Given the description of an element on the screen output the (x, y) to click on. 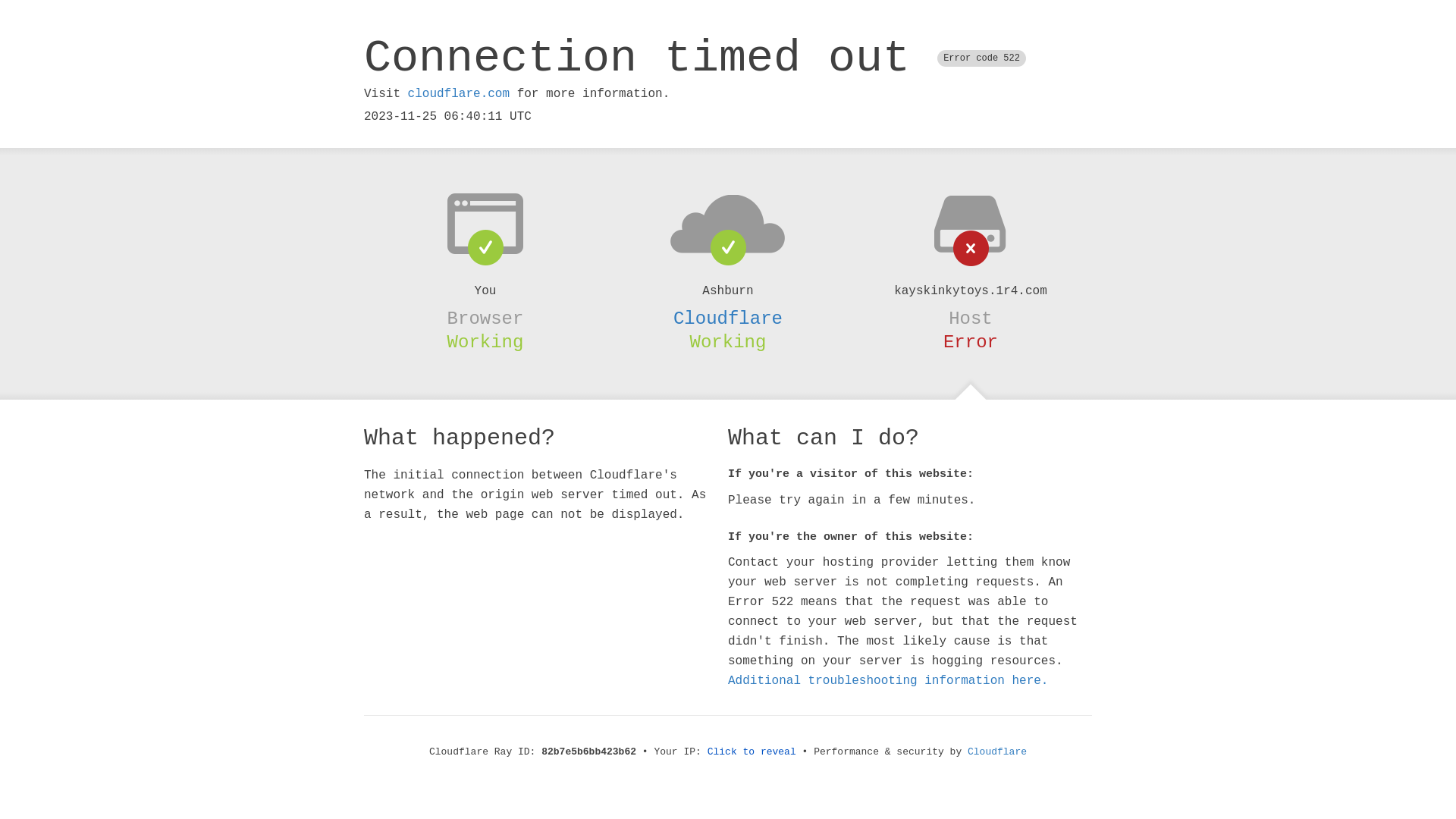
Cloudflare Element type: text (727, 318)
Additional troubleshooting information here. Element type: text (888, 680)
Cloudflare Element type: text (996, 751)
cloudflare.com Element type: text (458, 93)
Click to reveal Element type: text (751, 751)
